Given the description of an element on the screen output the (x, y) to click on. 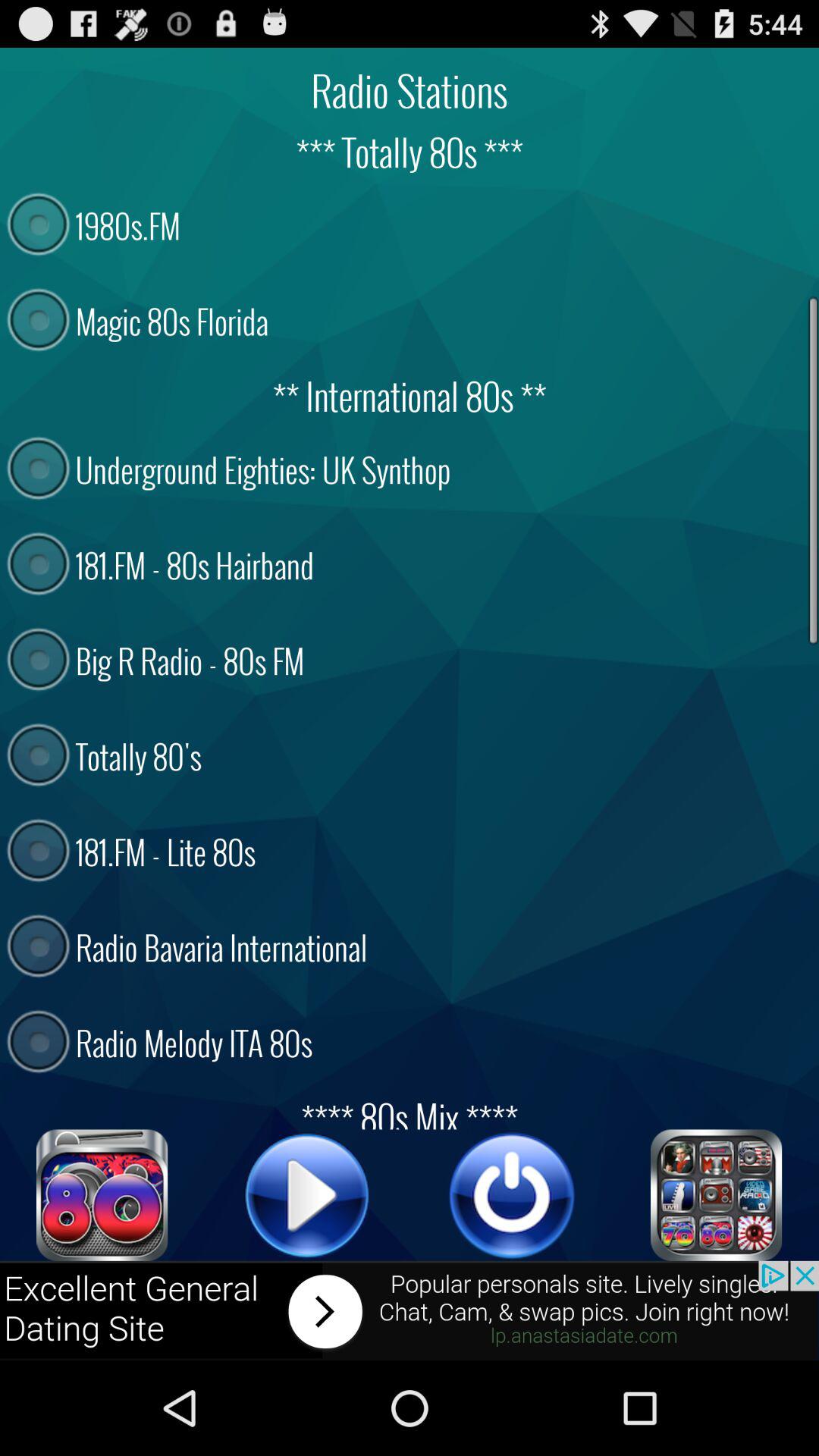
play button (306, 1194)
